Given the description of an element on the screen output the (x, y) to click on. 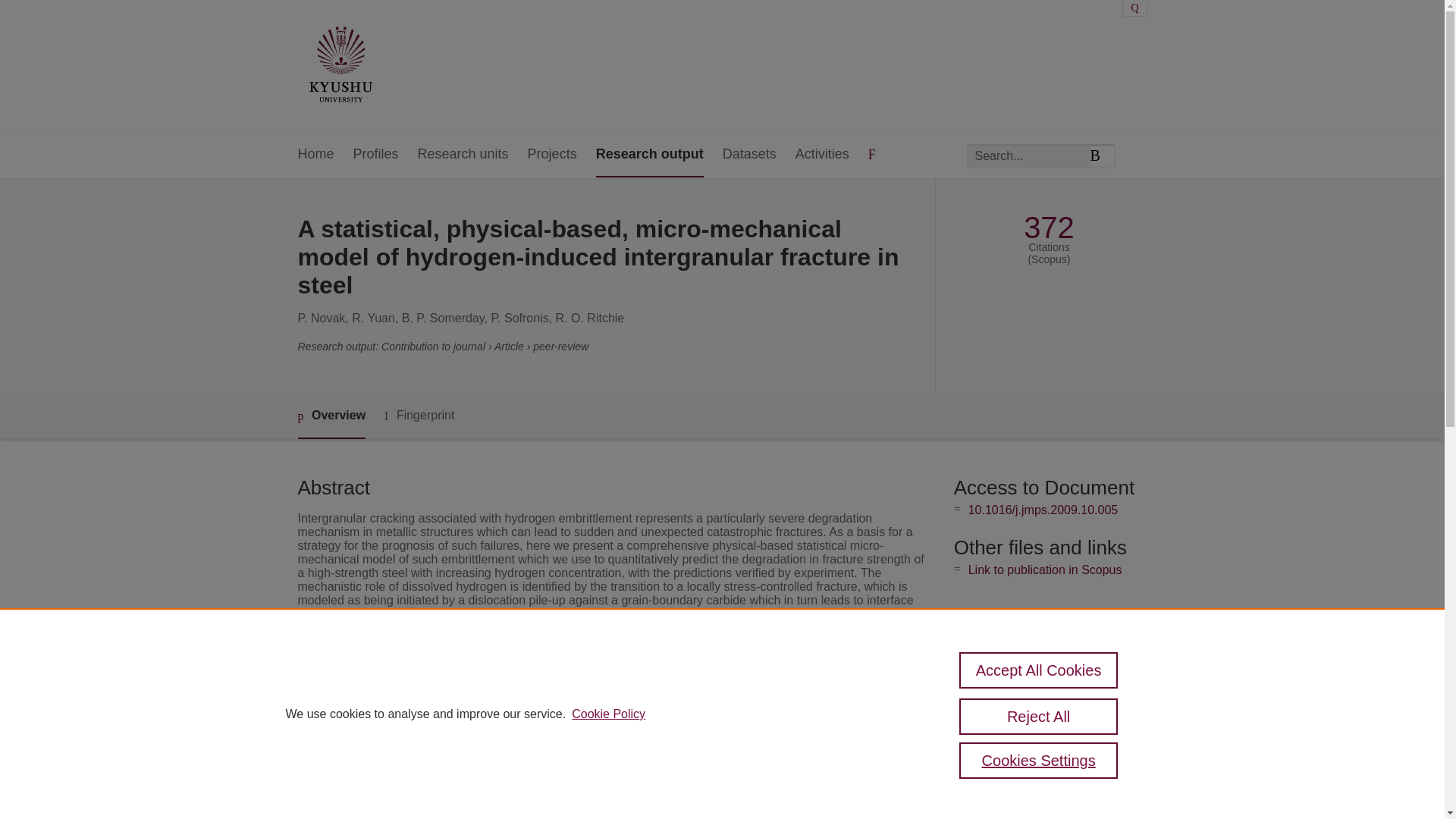
Journal of the Mechanics and Physics of Solids (632, 758)
Datasets (749, 154)
Research output (649, 154)
Research units (462, 154)
372 (1048, 227)
Activities (821, 154)
Overview (331, 415)
Projects (551, 154)
Profiles (375, 154)
